Given the description of an element on the screen output the (x, y) to click on. 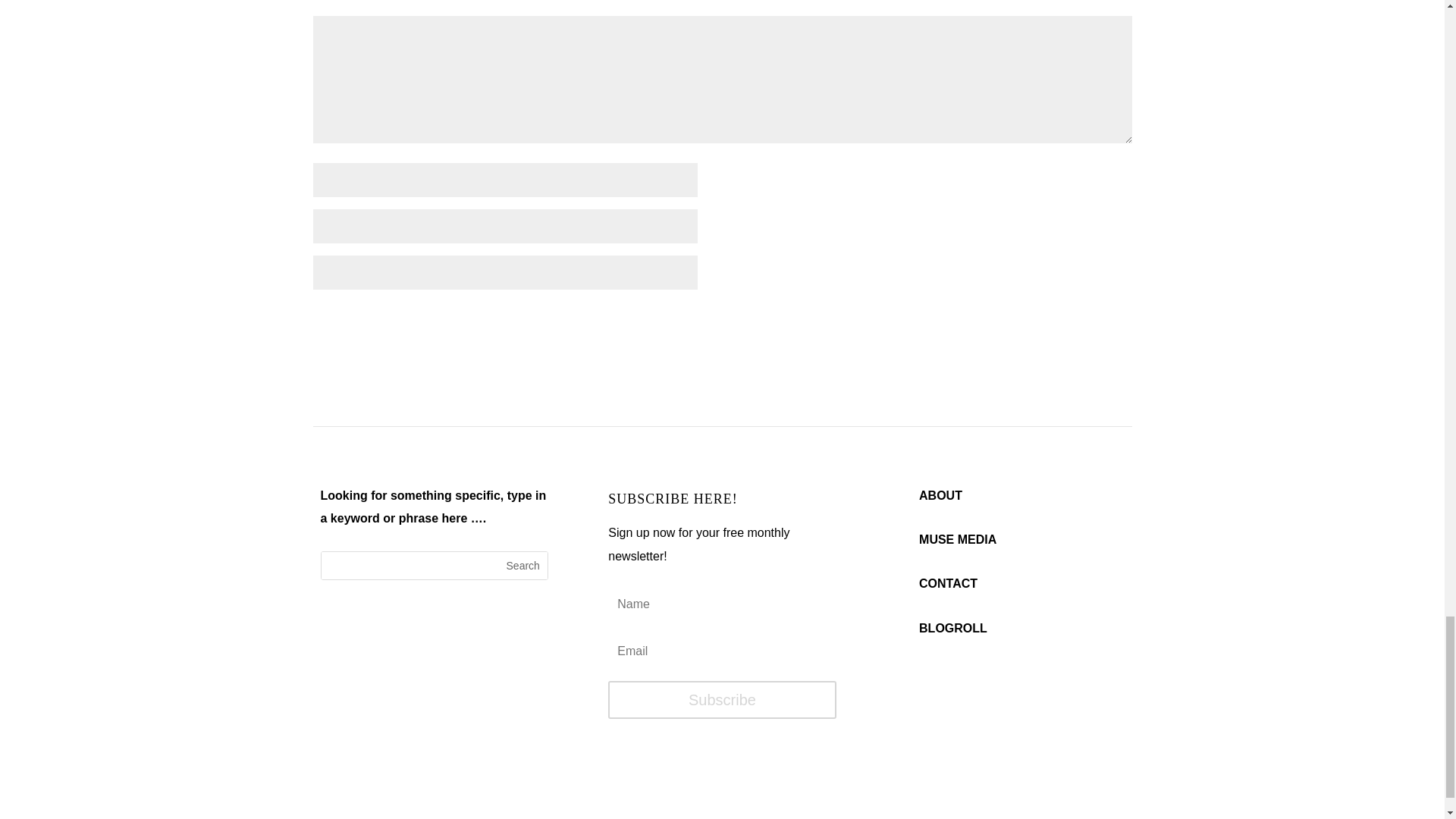
Search (523, 565)
yes (319, 311)
Search (523, 565)
